Given the description of an element on the screen output the (x, y) to click on. 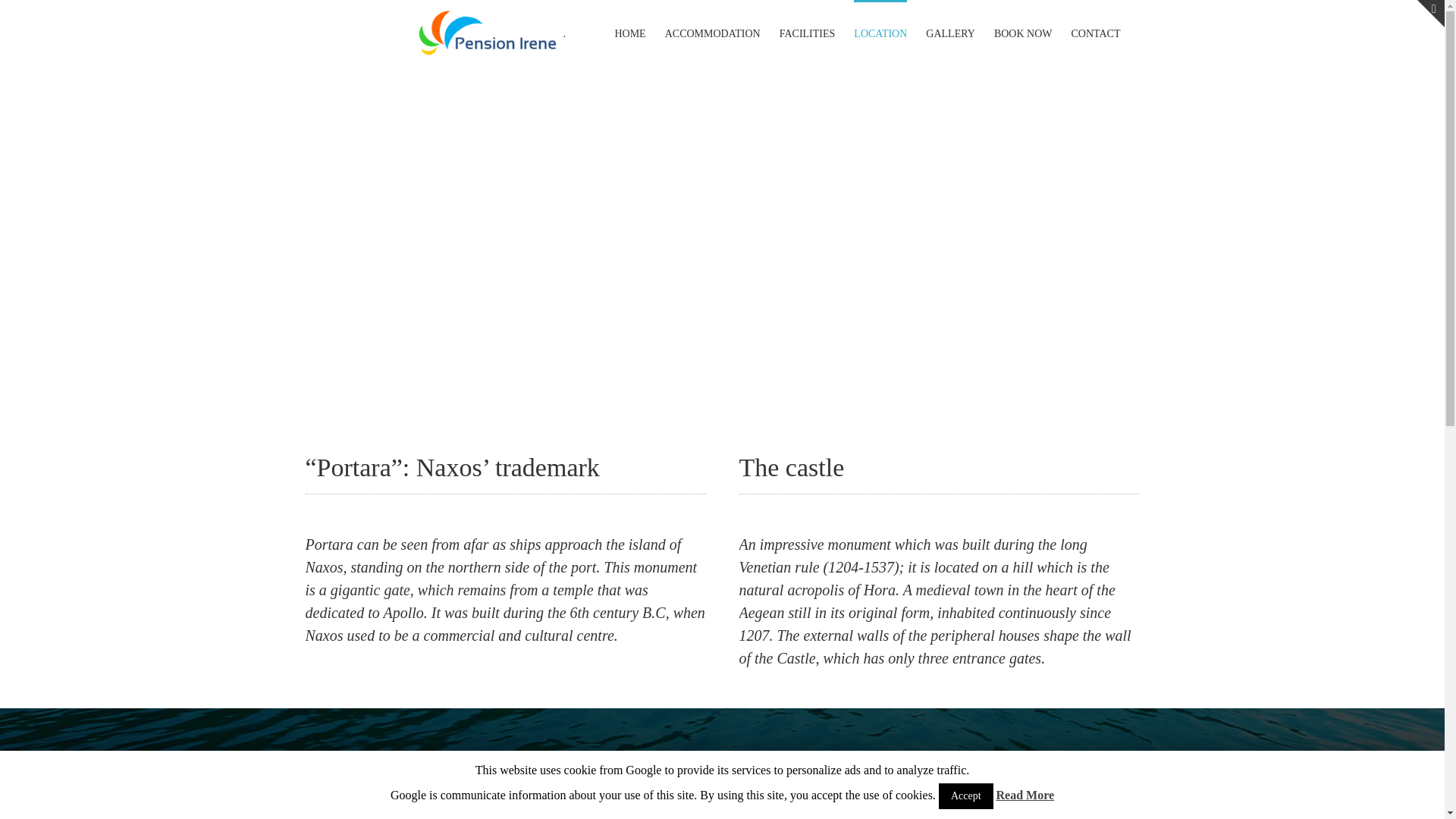
BOOK NOW (1023, 32)
LOCATION (880, 32)
LOCATION (487, 33)
CONTACT (1094, 32)
GALLERY (950, 32)
. (491, 32)
FACILITIES (806, 32)
ACCOMMODATION (712, 32)
HOME (629, 32)
